Given the description of an element on the screen output the (x, y) to click on. 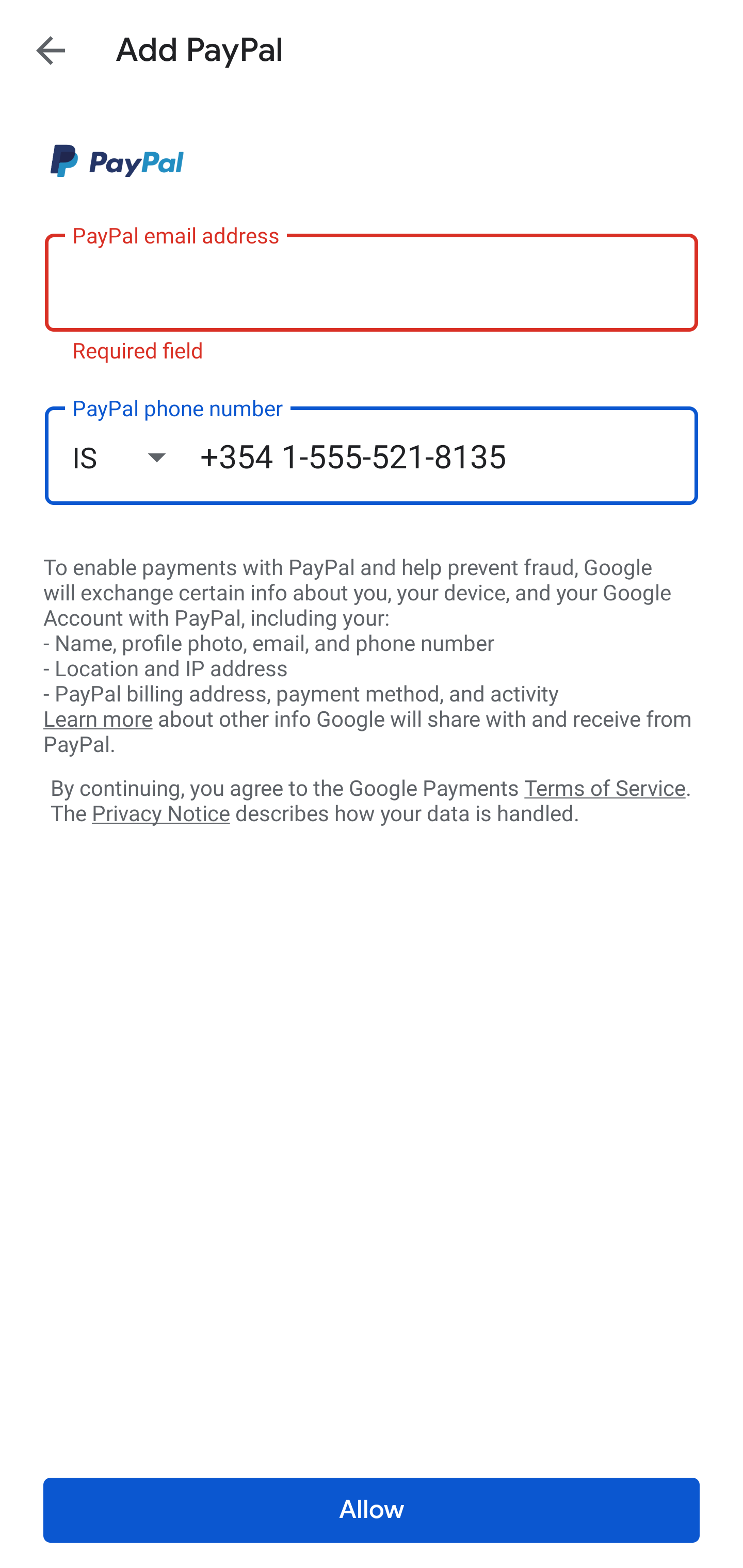
Navigate up (50, 50)
IS (135, 456)
Learn more (97, 719)
Terms of Service (604, 787)
Privacy Notice (160, 814)
Allow (371, 1510)
